Given the description of an element on the screen output the (x, y) to click on. 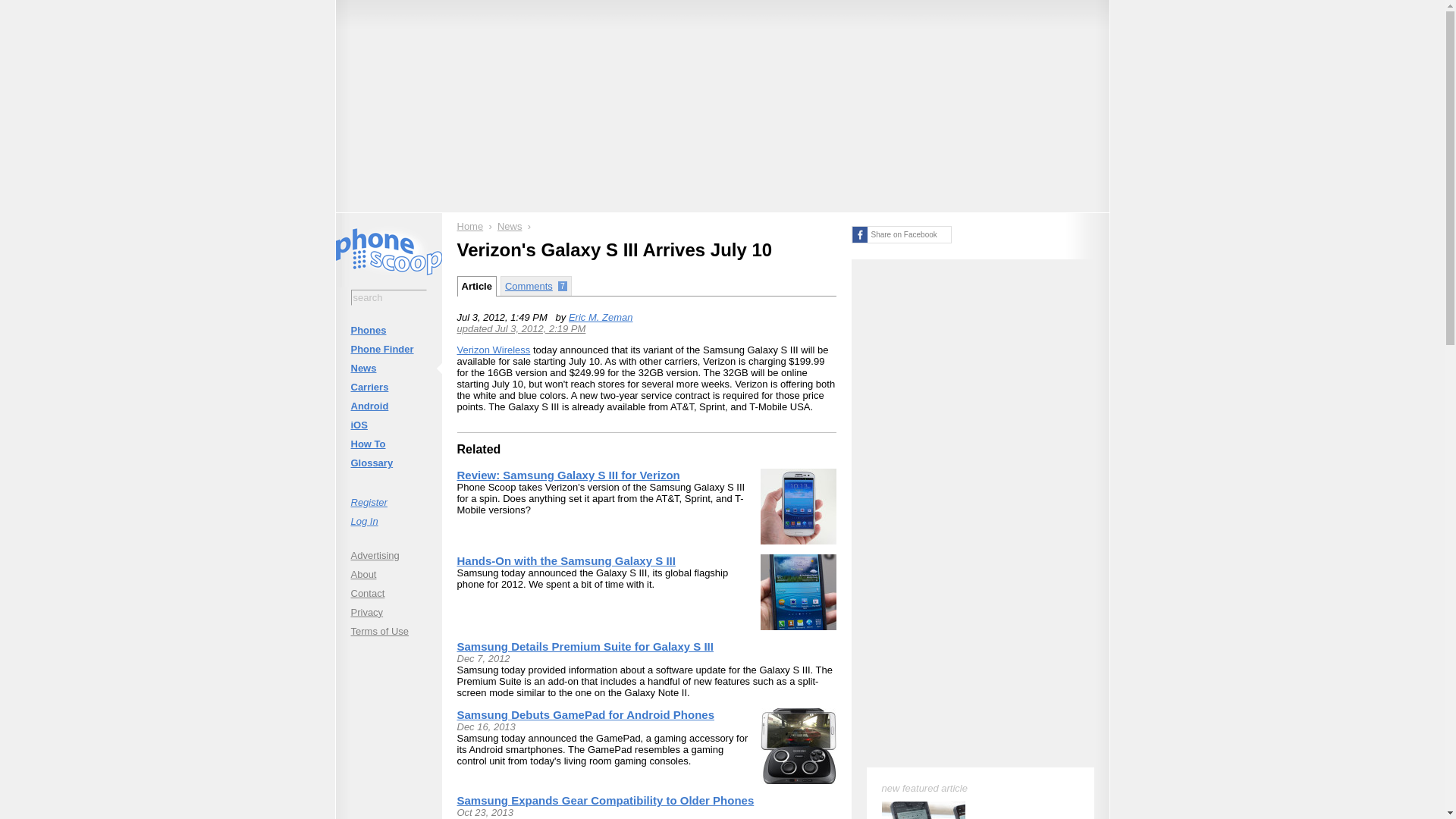
Privacy (387, 610)
Advertising (387, 555)
Register (387, 502)
Eric M. Zeman (601, 317)
How To (387, 443)
Contact (387, 592)
Phones (387, 330)
About (387, 573)
Share on Facebook (900, 234)
updated Jul 3, 2012, 2:19 PM (521, 328)
iOS (387, 424)
News (509, 225)
Related (478, 449)
